Given the description of an element on the screen output the (x, y) to click on. 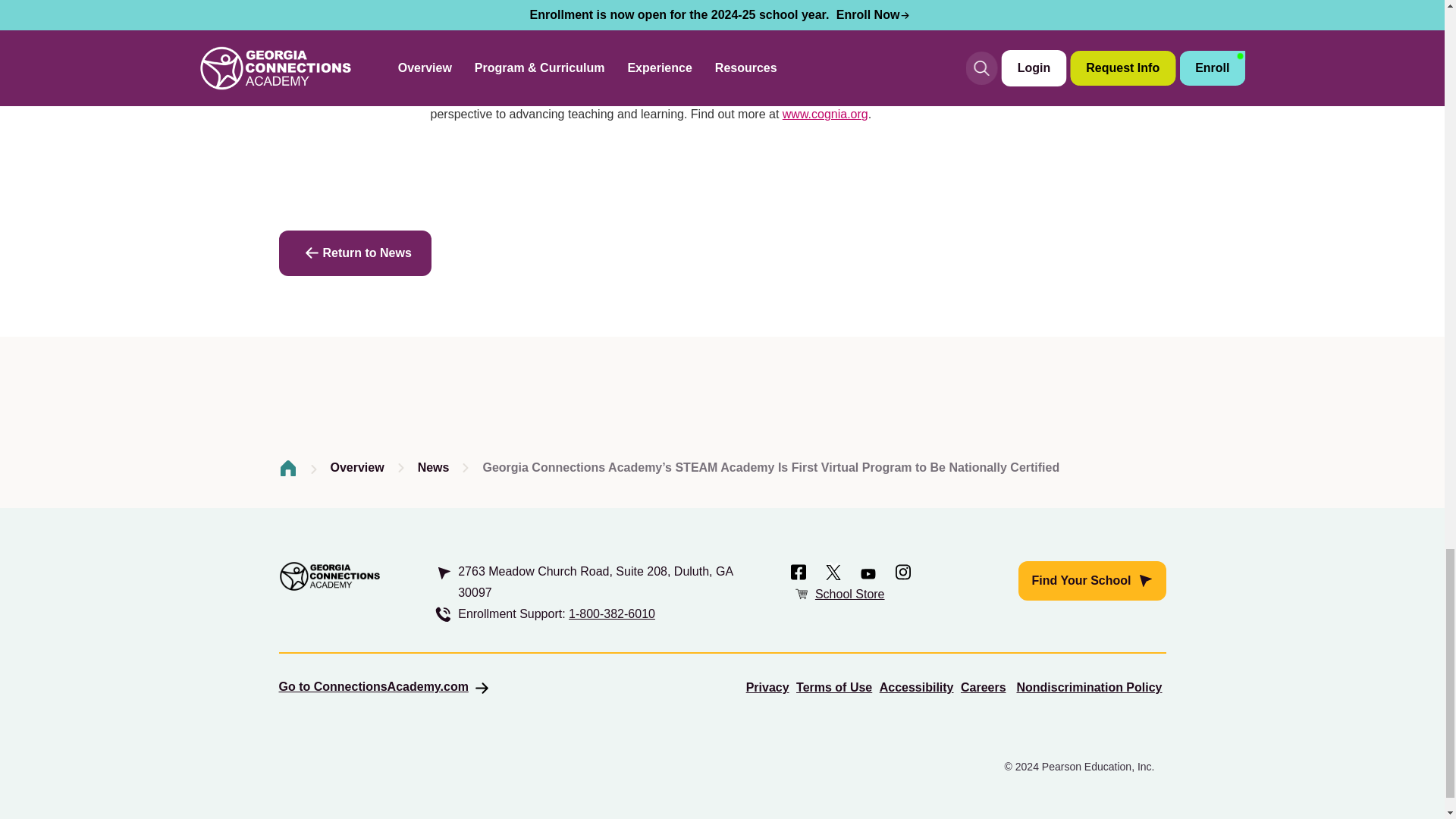
School Store (850, 594)
Go to ConnectionsAcademy.com (385, 686)
Find Your School (1091, 580)
Terms of Use (834, 686)
Careers (983, 686)
Nondiscrimination policy (1088, 686)
Privacy Policy (767, 686)
